Given the description of an element on the screen output the (x, y) to click on. 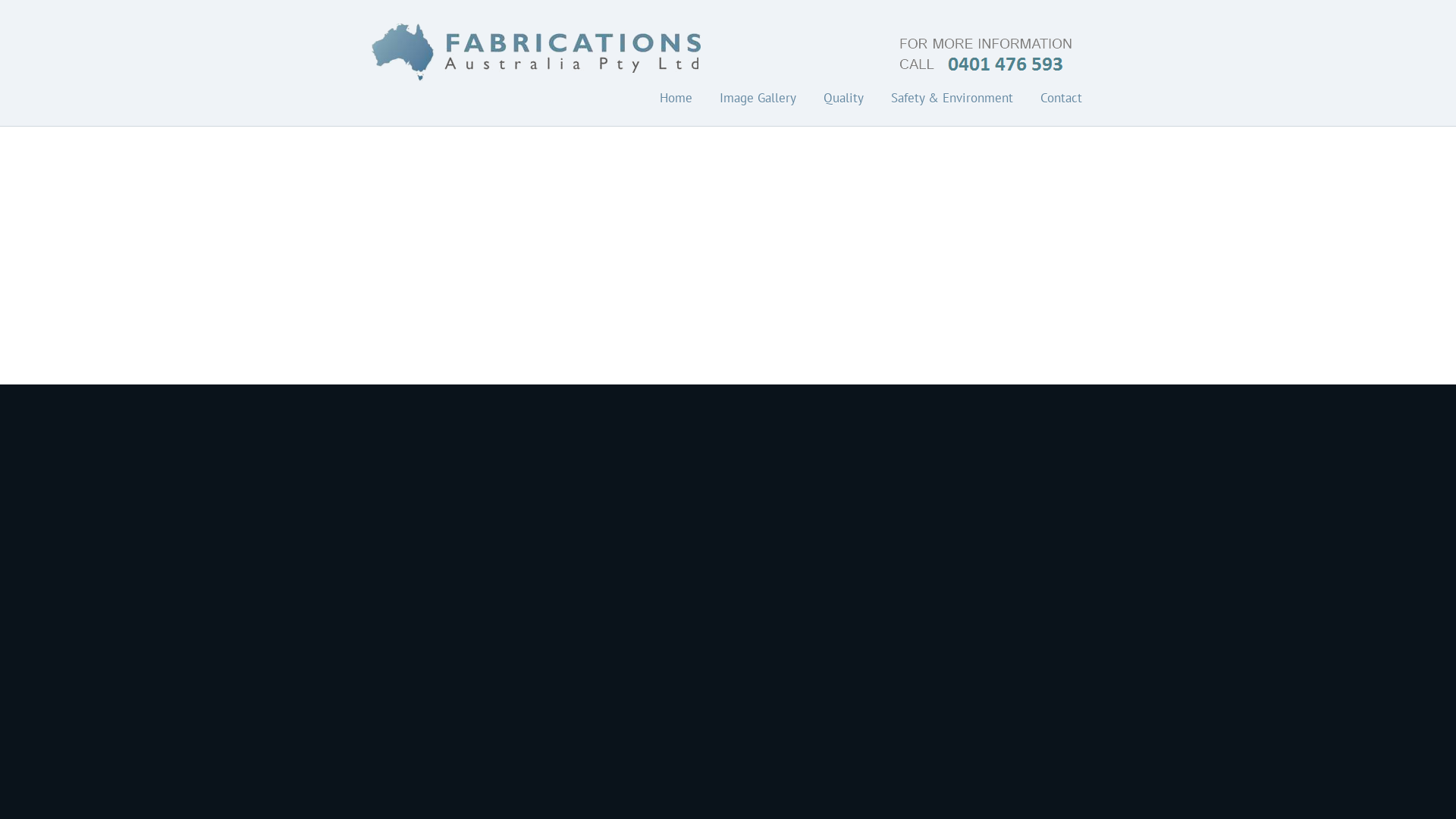
Home Element type: text (675, 97)
Quality Element type: text (843, 97)
Image Gallery Element type: text (757, 97)
Stainless, Mild Steel and Stainless Fabrication Brisbane Element type: hover (728, 82)
Contact Element type: text (1061, 97)
Safety & Environment Element type: text (951, 97)
